Given the description of an element on the screen output the (x, y) to click on. 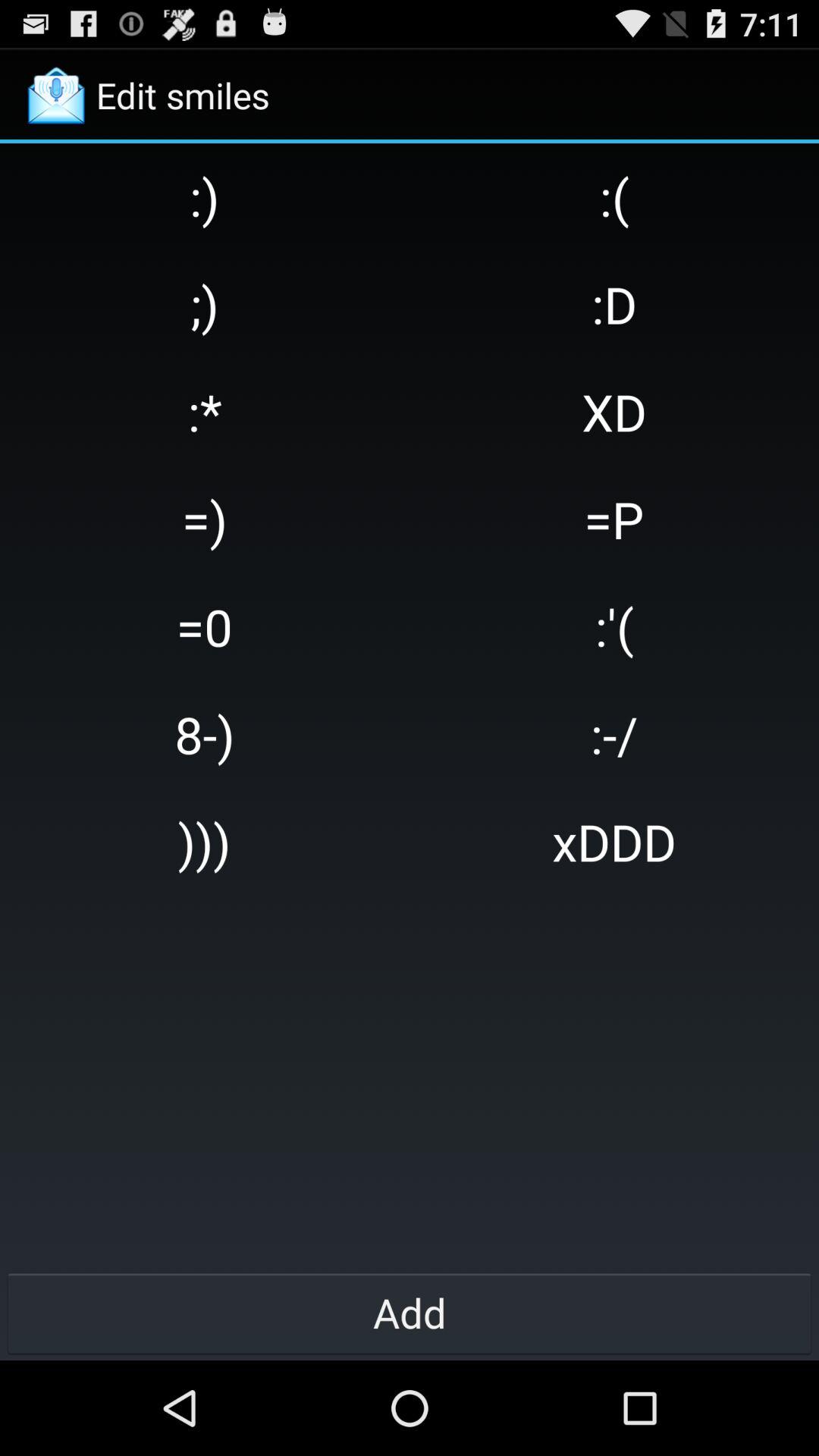
press add (409, 1312)
